Given the description of an element on the screen output the (x, y) to click on. 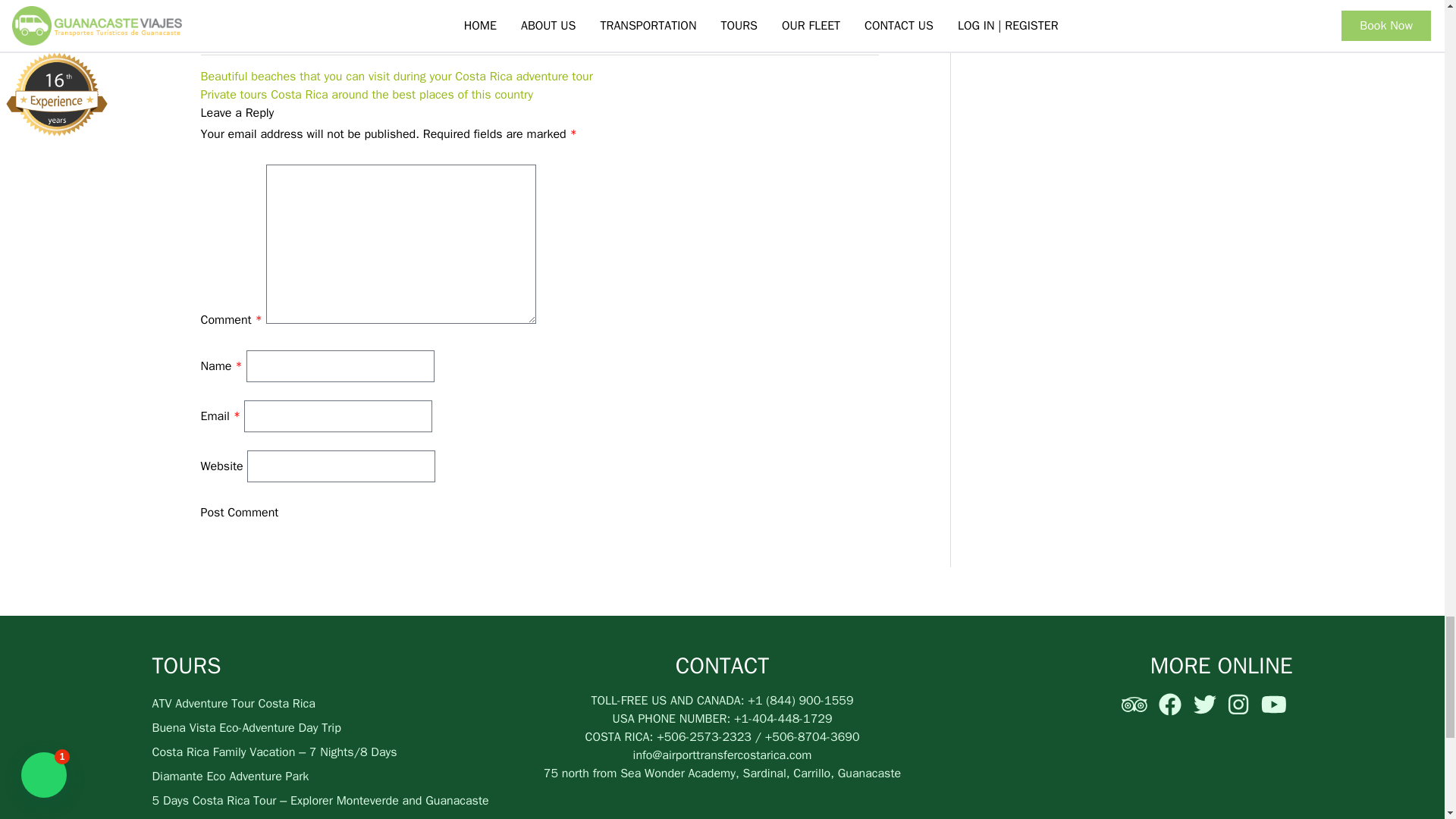
Post Comment (239, 512)
Adventure tour Costa Rica (438, 32)
Uncategorized (291, 32)
private transportation services (595, 32)
Post Comment (239, 512)
